Given the description of an element on the screen output the (x, y) to click on. 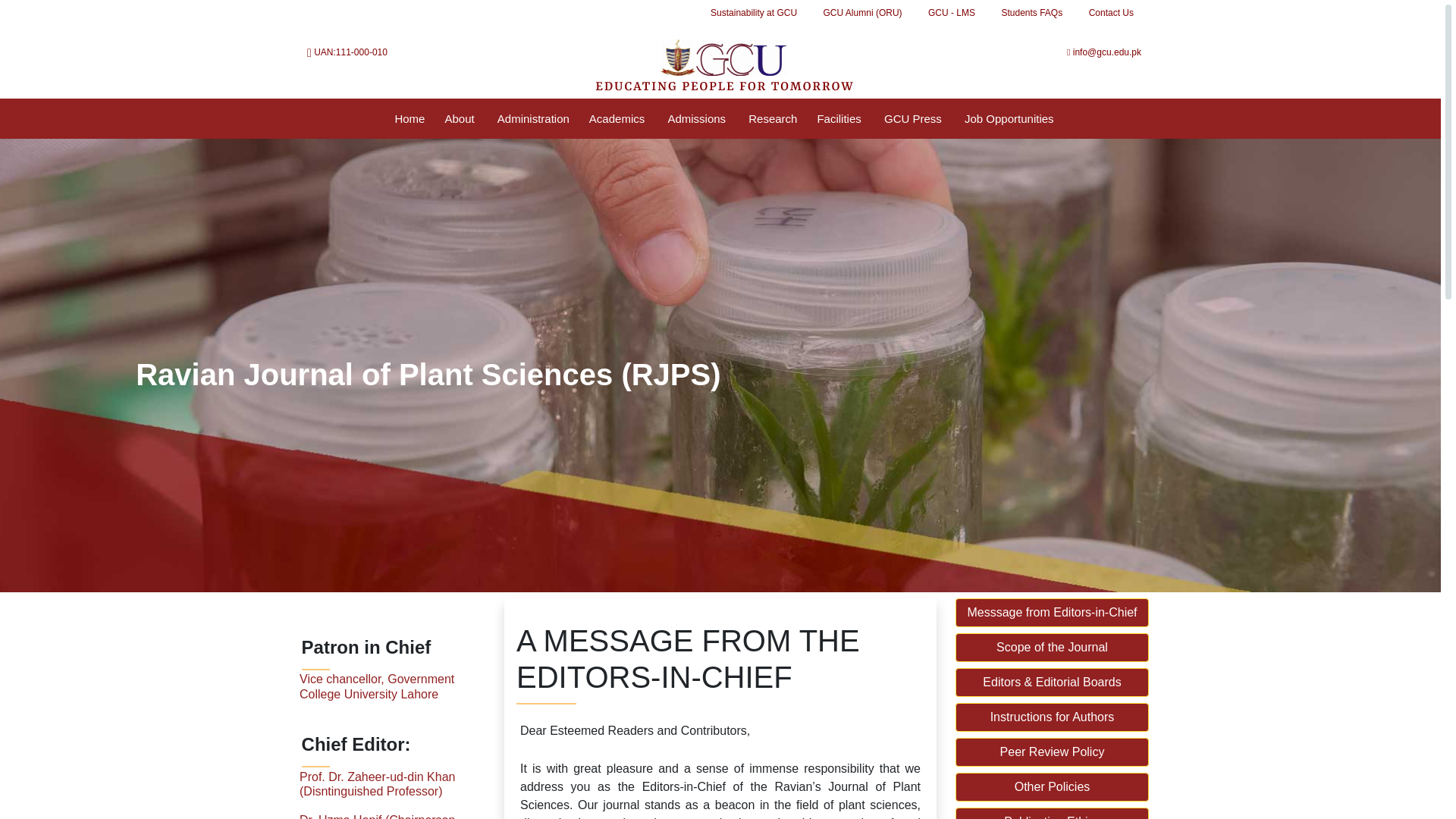
Home (409, 118)
Facilities (840, 118)
Students FAQs (1031, 13)
Academics (618, 118)
About (460, 118)
Research (772, 118)
Admissions (698, 118)
Sustainability at GCU (753, 13)
Administration (533, 118)
Contact Us (1111, 13)
GCU - LMS (951, 13)
UAN:111-000-010 (400, 52)
